Given the description of an element on the screen output the (x, y) to click on. 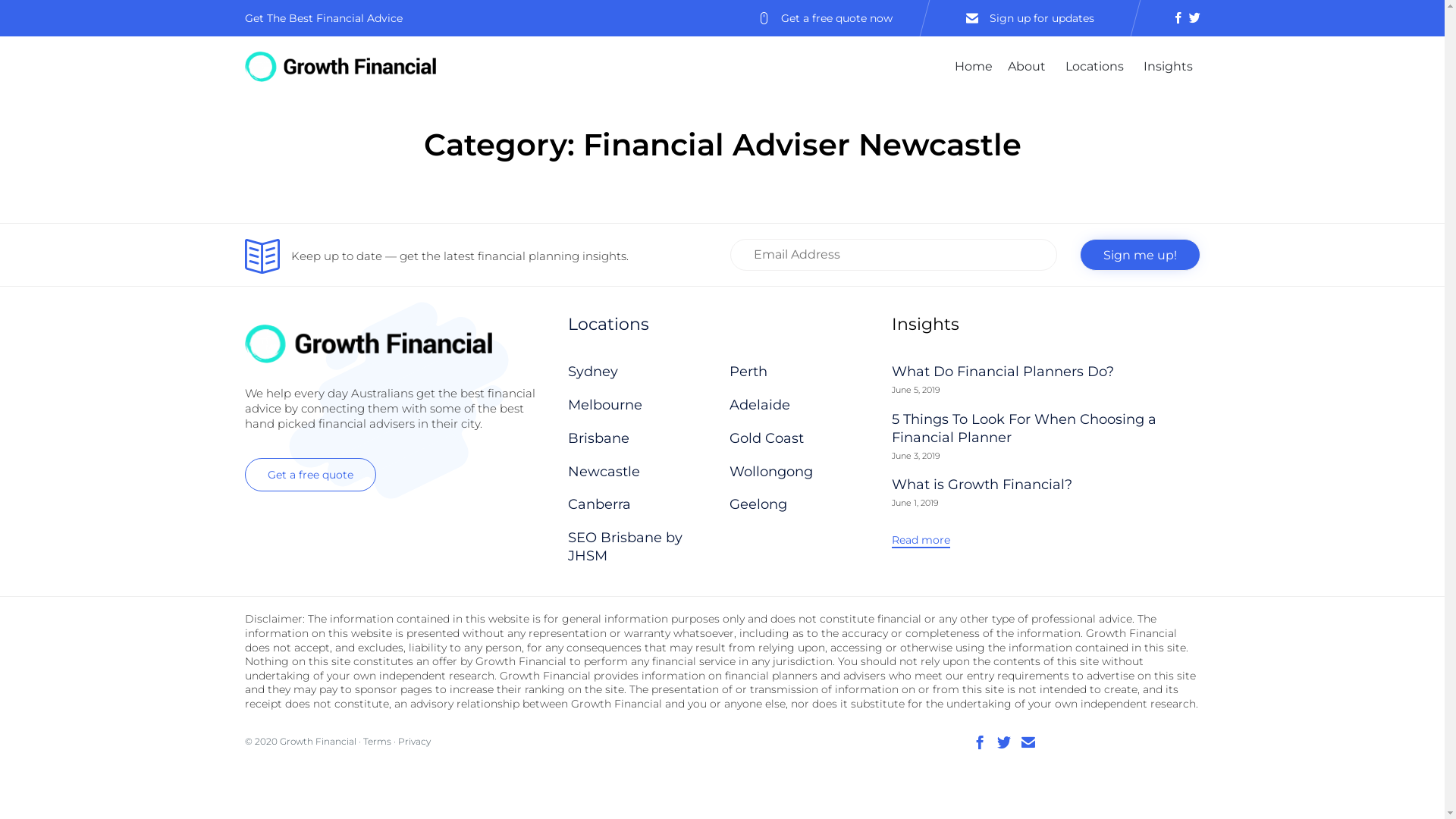
About Element type: text (1028, 66)
Newcastle Element type: text (640, 472)
5 Things To Look For When Choosing a Financial Planner Element type: text (1023, 428)
Perth Element type: text (802, 372)
Terms Element type: text (376, 741)
Gold Coast Element type: text (802, 438)
Privacy Element type: text (413, 741)
Sign me up! Element type: text (1139, 254)
What Do Financial Planners Do? Element type: text (1002, 371)
Geelong Element type: text (802, 504)
Brisbane Element type: text (640, 438)
Sydney Element type: text (640, 372)
Read more Element type: text (920, 539)
Skip to content Element type: text (1199, 47)
Locations Element type: text (1096, 66)
Growth Financial Element type: text (317, 741)
Wollongong Element type: text (802, 472)
Melbourne Element type: text (640, 405)
Sign up for updates Element type: text (1041, 18)
What is Growth Financial? Element type: text (981, 484)
Get The Best Financial Advice Element type: text (322, 18)
Growth Financial Element type: hover (339, 66)
Home Element type: text (972, 66)
Canberra Element type: text (640, 504)
Insights Element type: text (1167, 66)
Get a free quote Element type: text (309, 474)
Adelaide Element type: text (802, 405)
SEO Brisbane by JHSM Element type: text (640, 547)
Get a free quote now Element type: text (836, 18)
